Given the description of an element on the screen output the (x, y) to click on. 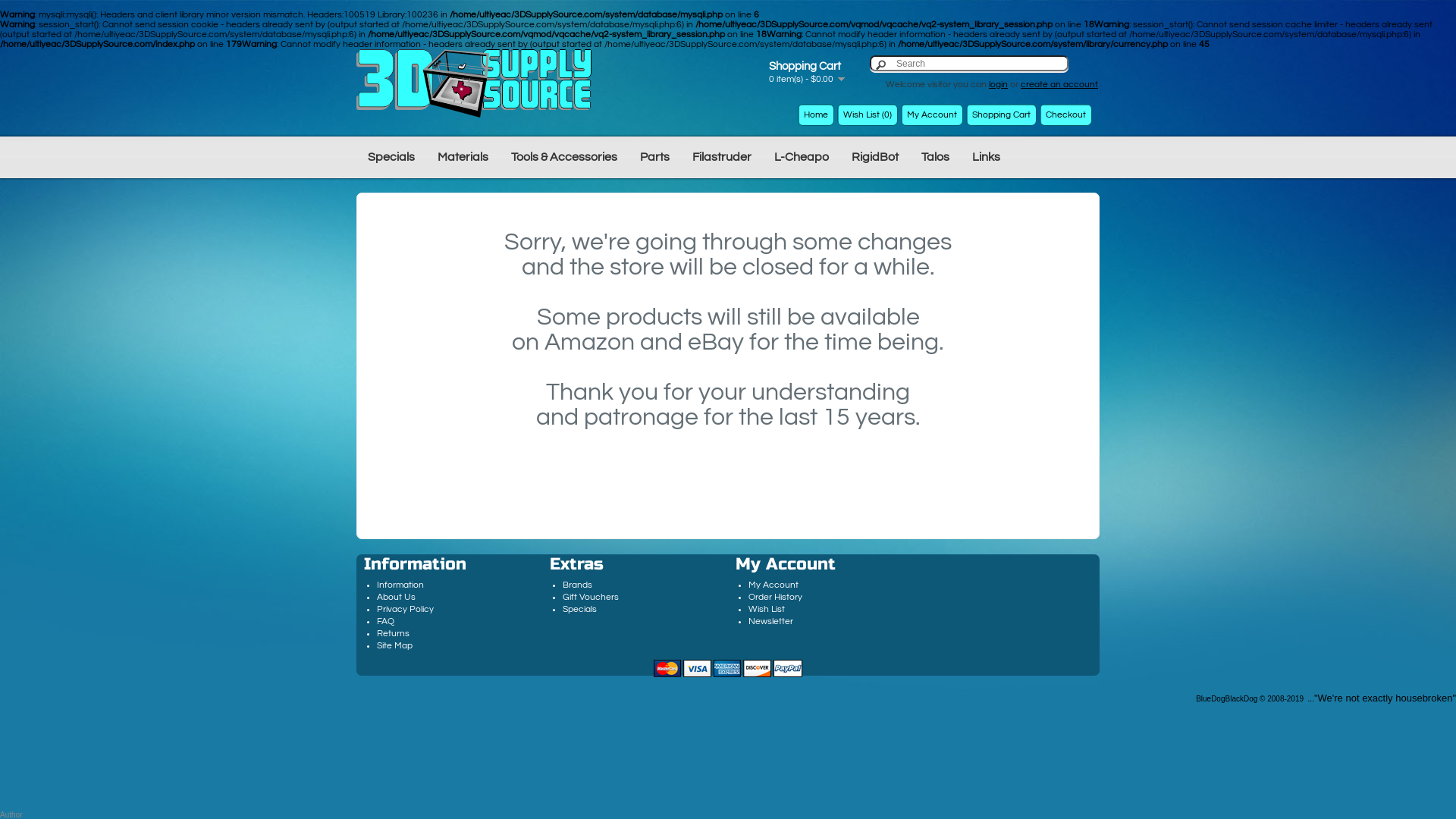
Links Element type: text (985, 155)
Gift Vouchers Element type: text (590, 597)
Wish List (0) Element type: text (867, 114)
RigidBot Element type: text (875, 155)
login Element type: text (997, 84)
FAQ Element type: text (385, 621)
Materials Element type: text (462, 155)
Newsletter Element type: text (770, 621)
Wish List Element type: text (766, 609)
Site Map Element type: text (394, 645)
3D Supply Source Element type: hover (473, 83)
Checkout Element type: text (1065, 114)
Home Element type: text (815, 114)
About Us Element type: text (395, 597)
Privacy Policy Element type: text (404, 609)
Specials Element type: text (391, 155)
Information Element type: text (399, 584)
Shopping Cart Element type: text (1001, 114)
Brands Element type: text (577, 584)
Talos Element type: text (935, 155)
My Account Element type: text (773, 584)
My Account Element type: text (931, 114)
Order History Element type: text (775, 597)
Parts Element type: text (654, 155)
Returns Element type: text (392, 633)
Specials Element type: text (579, 609)
L-Cheapo Element type: text (801, 155)
Tools & Accessories Element type: text (563, 155)
create an account Element type: text (1059, 84)
0 item(s) - $0.00 Element type: text (806, 79)
Filastruder Element type: text (721, 155)
